Given the description of an element on the screen output the (x, y) to click on. 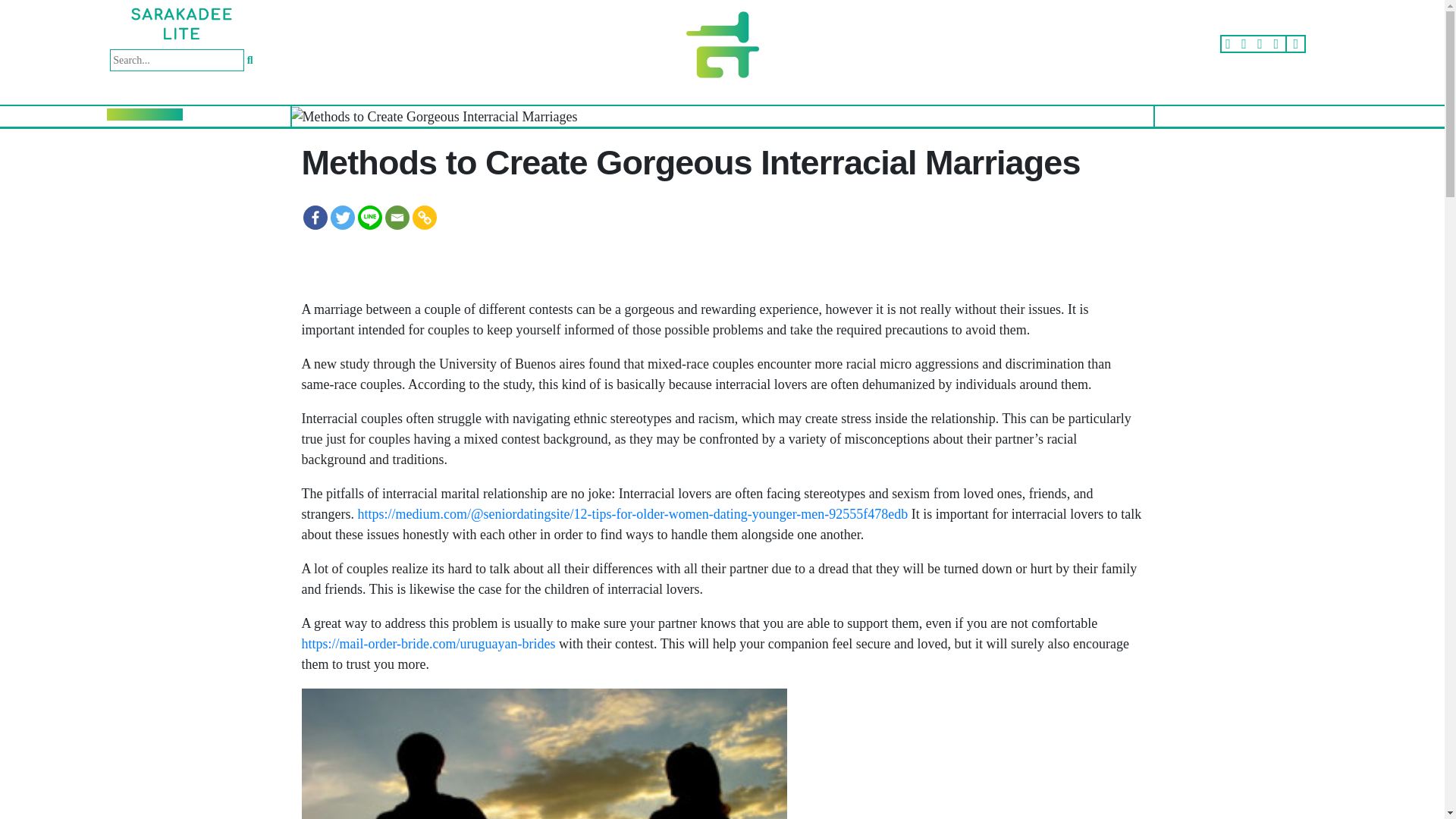
Facebook (314, 217)
Email (397, 217)
Line (369, 217)
Copy Link (424, 217)
Twitter (342, 217)
